Given the description of an element on the screen output the (x, y) to click on. 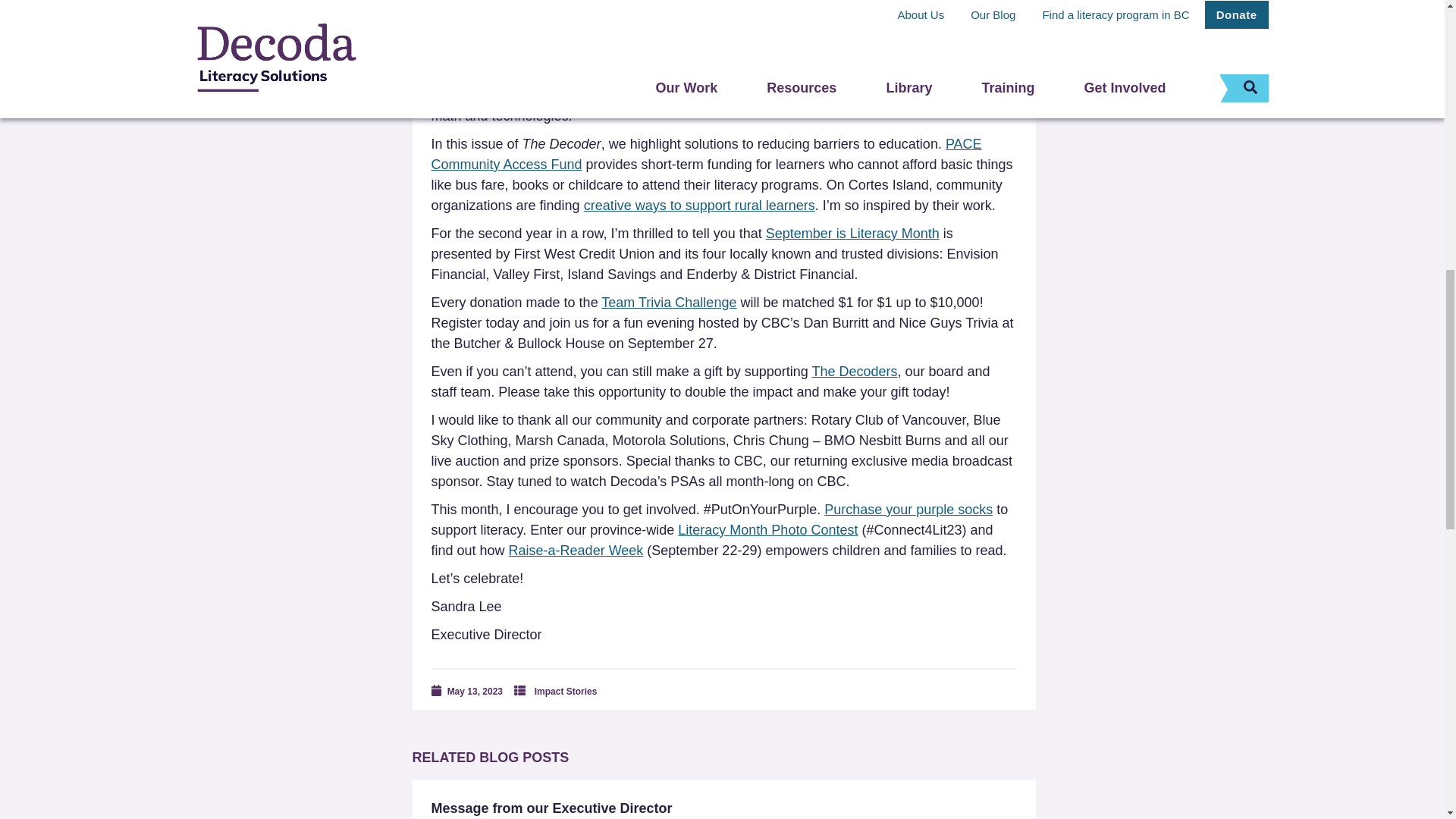
Submit (292, 3)
